Given the description of an element on the screen output the (x, y) to click on. 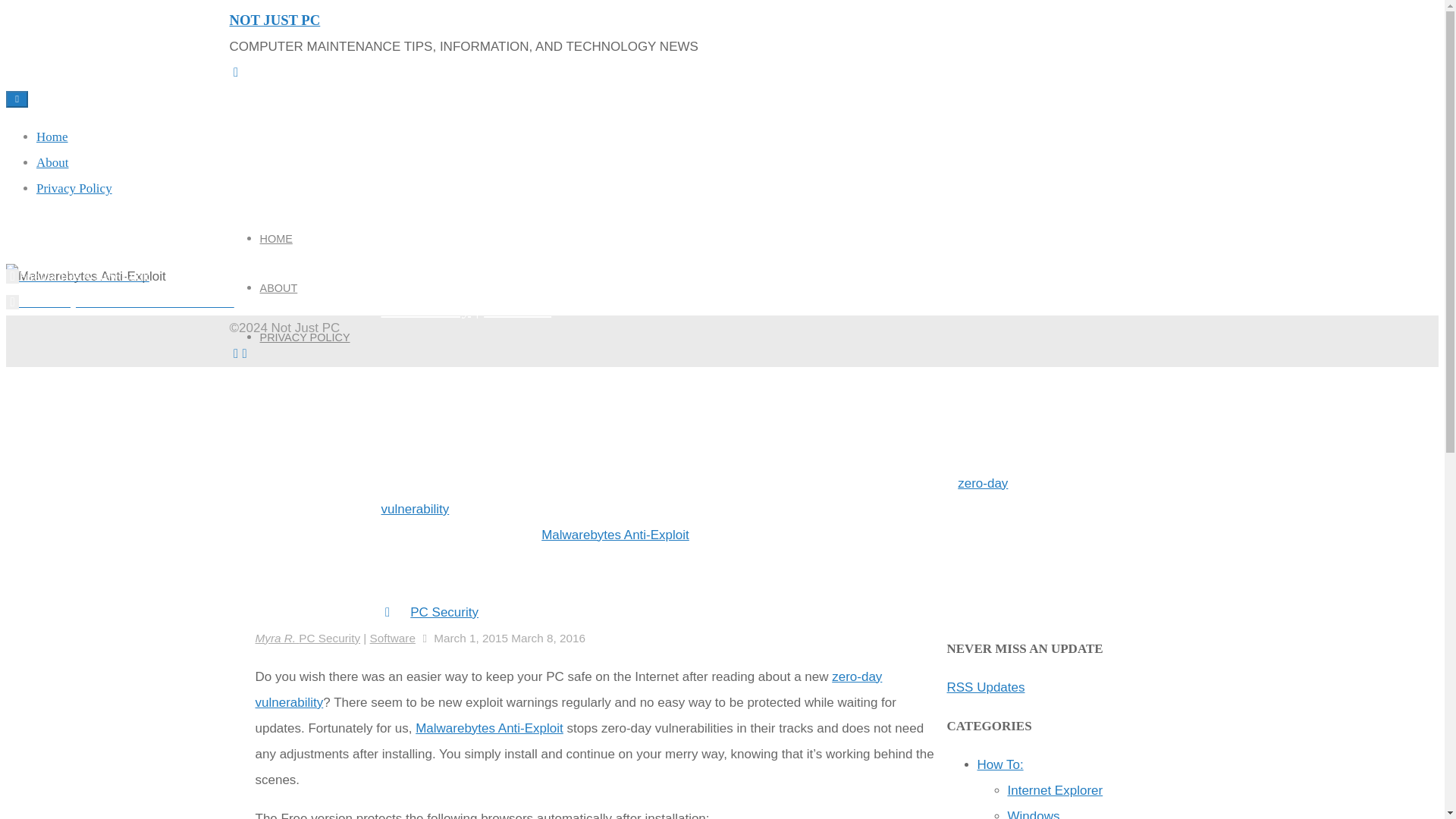
Myra R. (276, 637)
Computer maintenance tips, information, and technology news (274, 19)
zero-day vulnerability (693, 495)
PC Security (425, 308)
Date (455, 451)
View all posts by Myra R. (413, 451)
Malwarebytes Anti-Exploit (614, 534)
PC Security (444, 612)
About (52, 162)
ABOUT (278, 287)
